Given the description of an element on the screen output the (x, y) to click on. 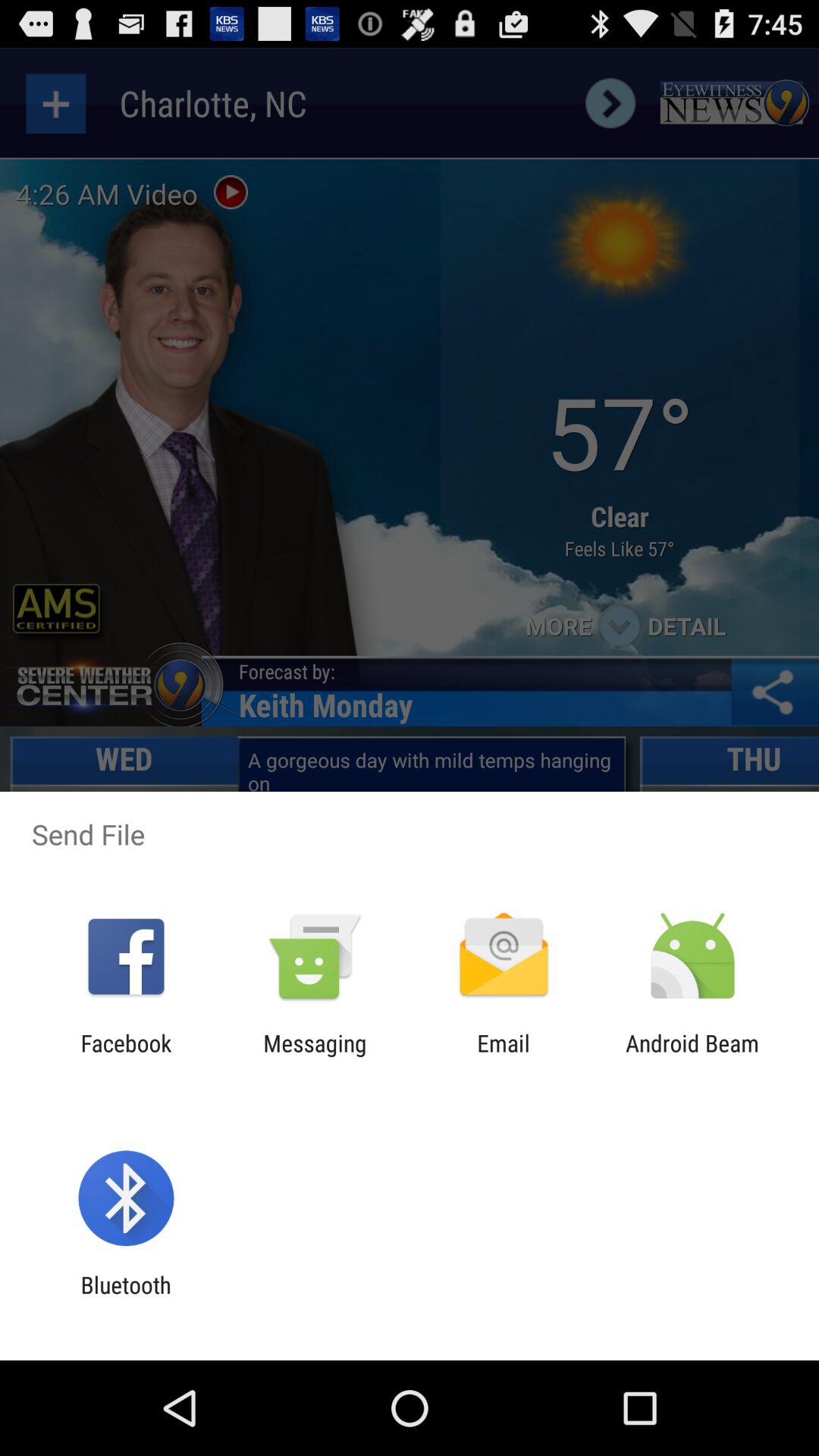
turn on icon to the right of messaging item (503, 1056)
